Given the description of an element on the screen output the (x, y) to click on. 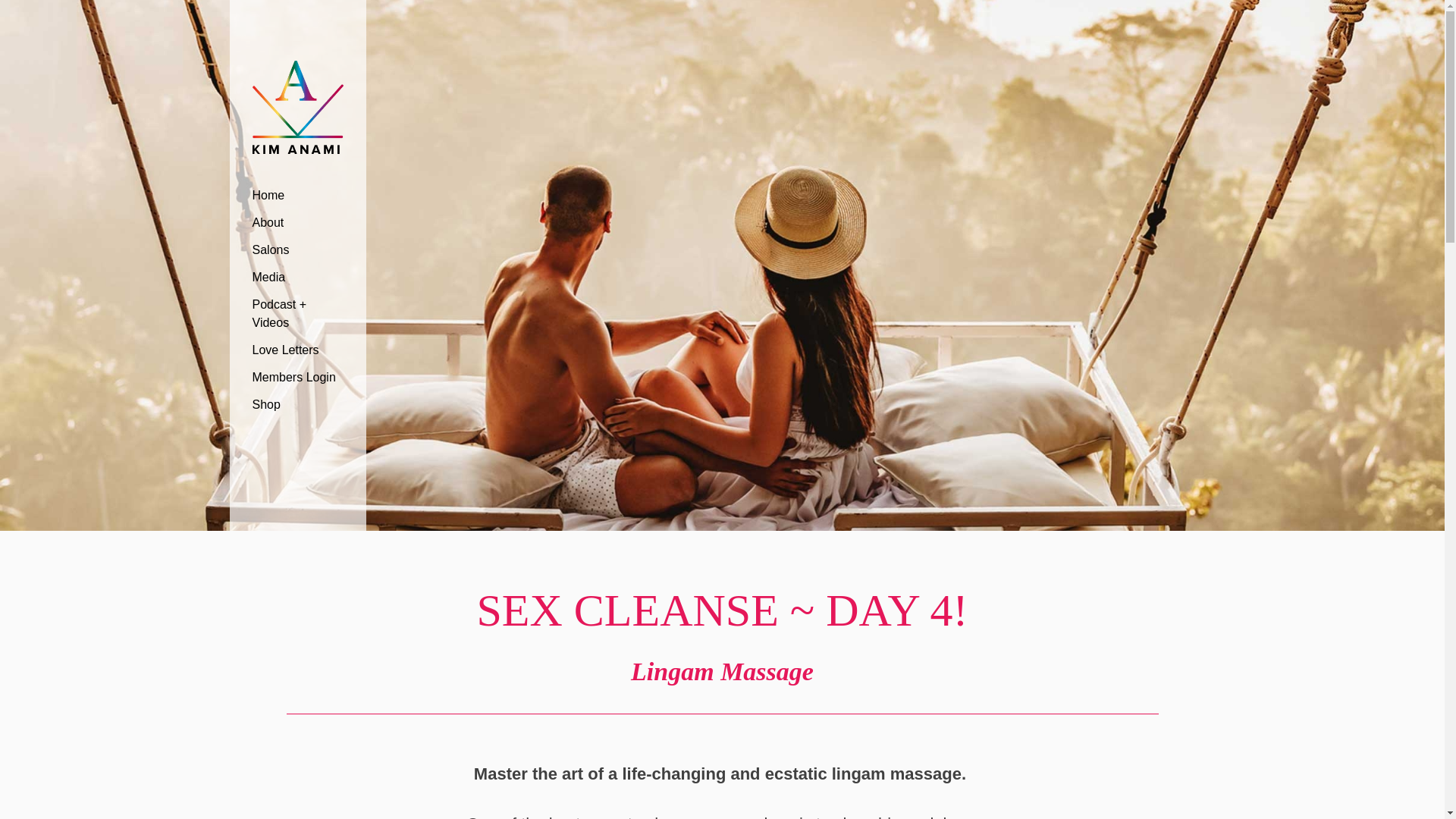
Media (296, 277)
About (296, 222)
Members Login (296, 377)
Love Letters (296, 349)
Salons (296, 249)
Home (296, 195)
Shop (296, 404)
